Given the description of an element on the screen output the (x, y) to click on. 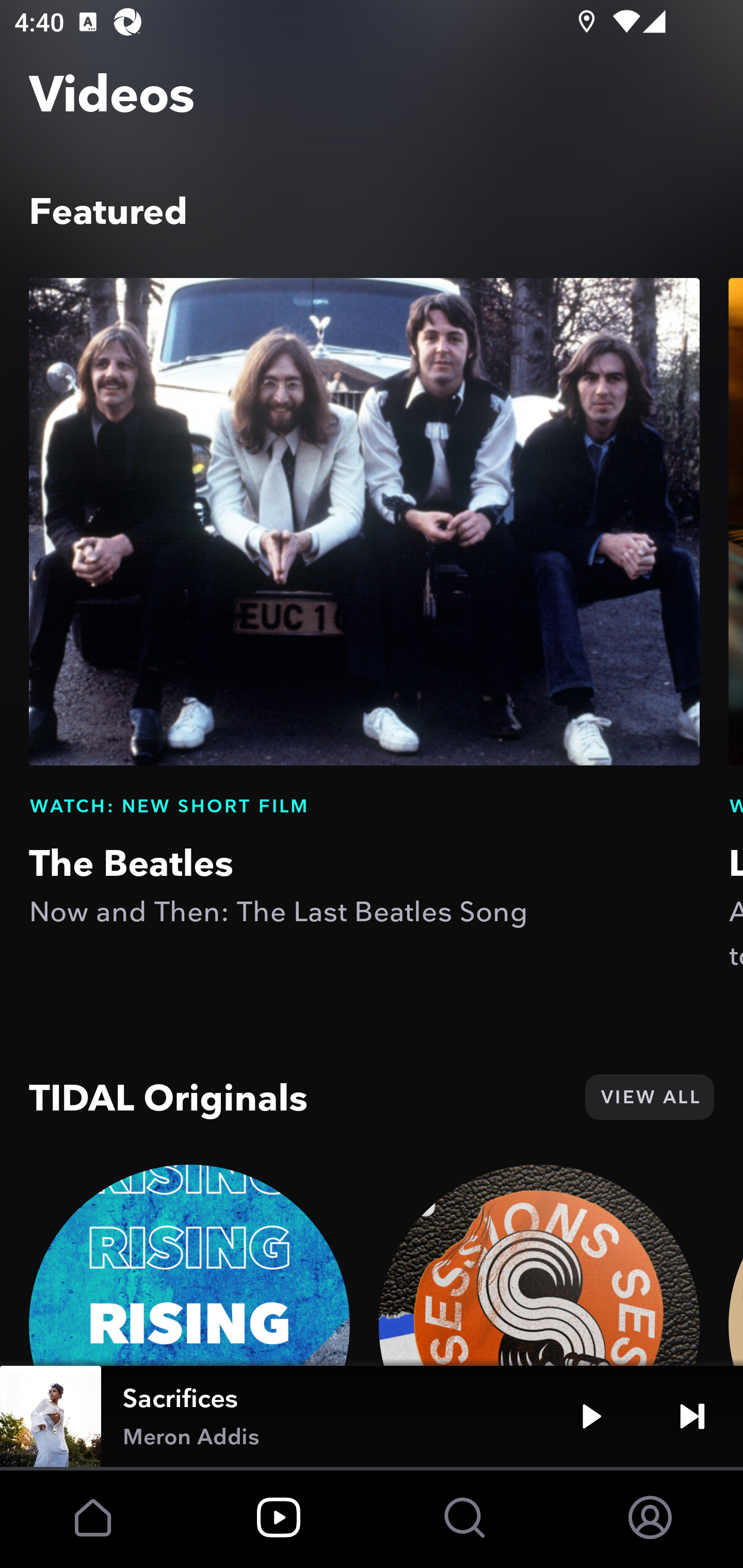
VIEW ALL (649, 1096)
Sacrifices Meron Addis Play (371, 1416)
Play (590, 1416)
